Given the description of an element on the screen output the (x, y) to click on. 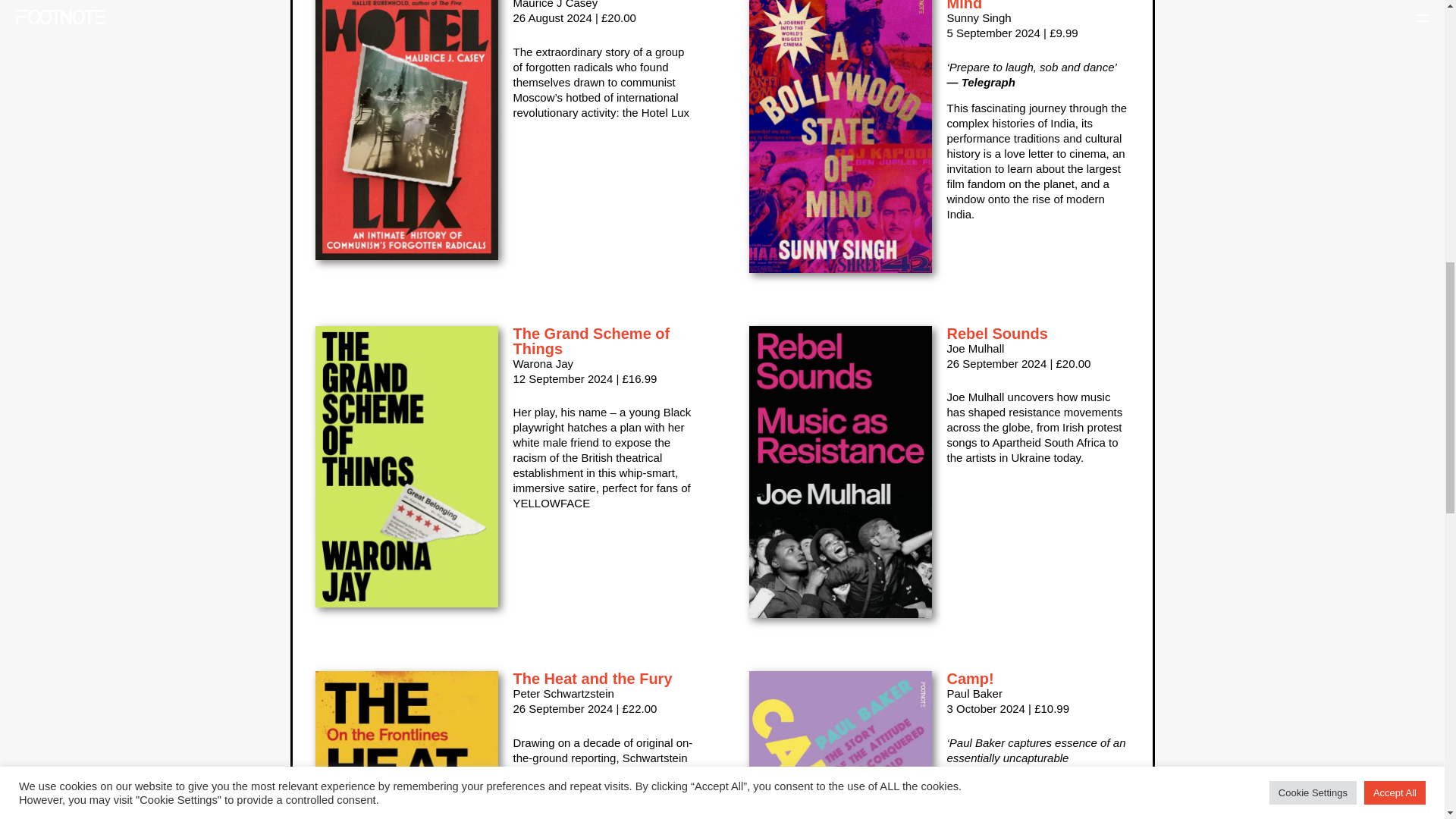
A Bollywood State of Mind (1021, 5)
The Grand Scheme of Things (590, 341)
The Heat and the Fury (591, 678)
Camp! (969, 678)
Rebel Sounds (996, 333)
9781804441572 (406, 744)
